Given the description of an element on the screen output the (x, y) to click on. 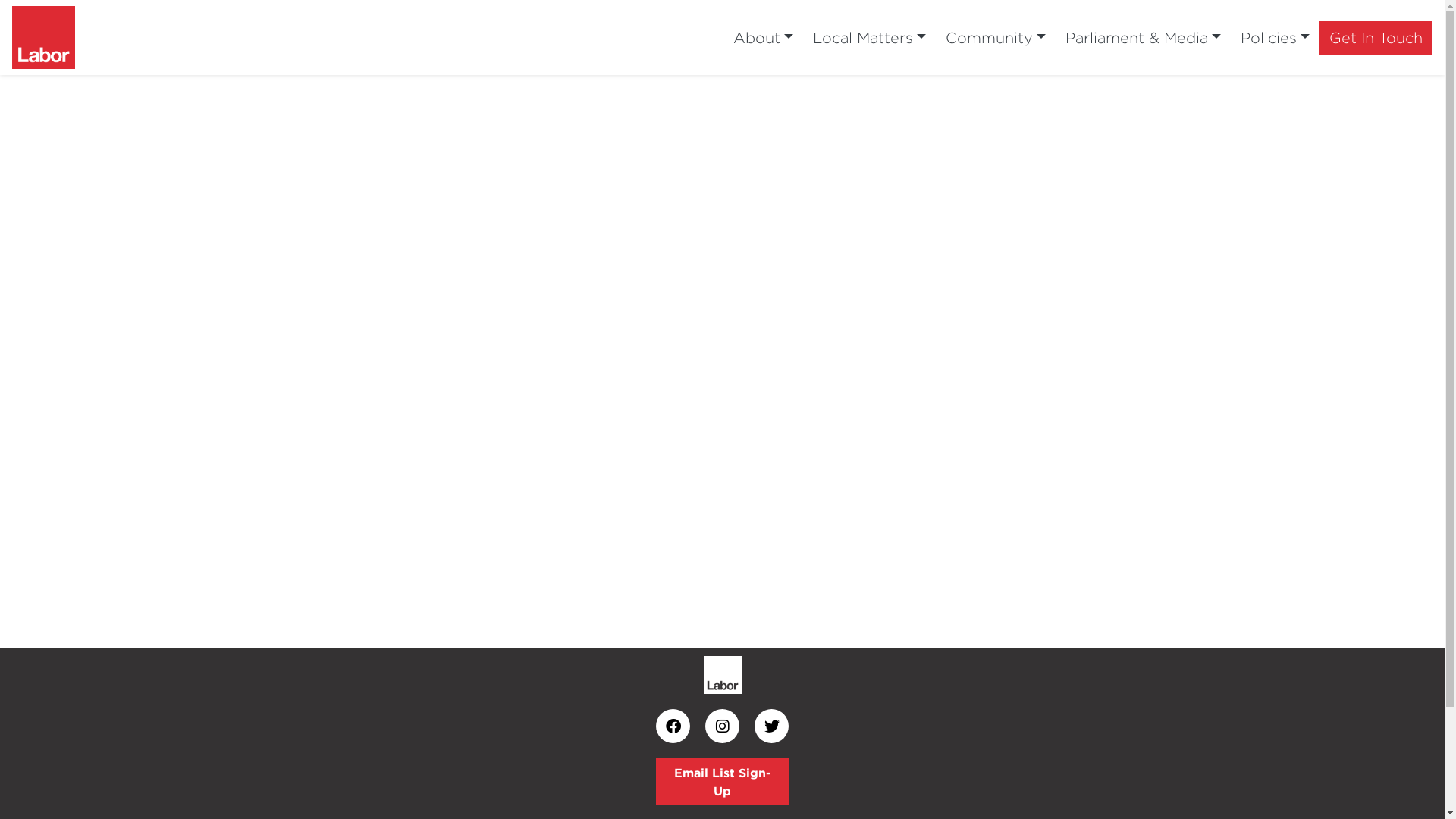
Parliament & Media Element type: text (1142, 37)
Get In Touch Element type: text (1375, 37)
Policies Element type: text (1274, 37)
Local Matters Element type: text (869, 37)
About Element type: text (763, 37)
Email List Sign-Up Element type: text (721, 781)
Community Element type: text (995, 37)
